Given the description of an element on the screen output the (x, y) to click on. 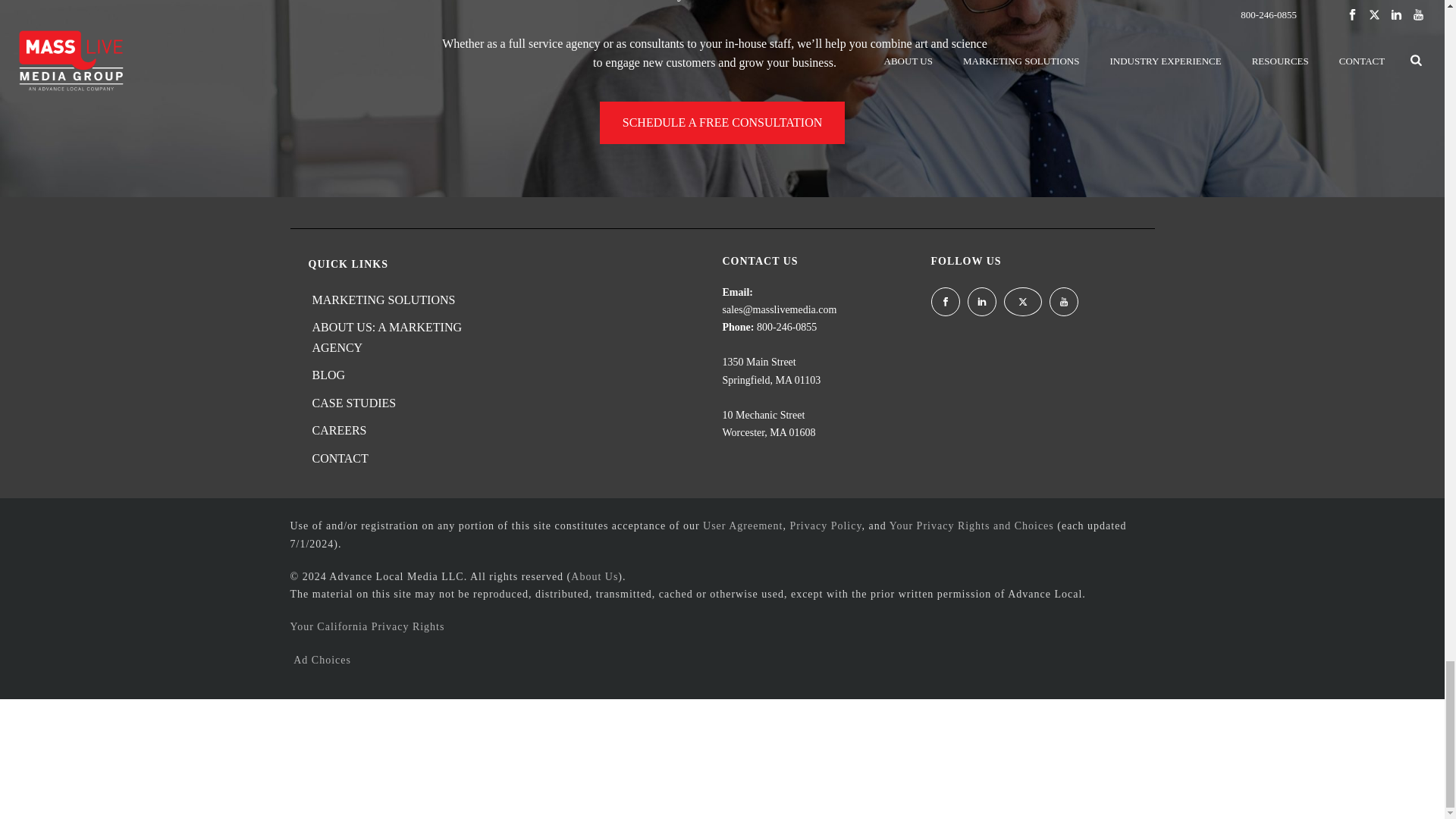
Follow Us on facebook (945, 301)
Follow Us on linkedin (981, 301)
Follow Us on twitter (1023, 301)
Follow Us on youtube (1063, 301)
